Given the description of an element on the screen output the (x, y) to click on. 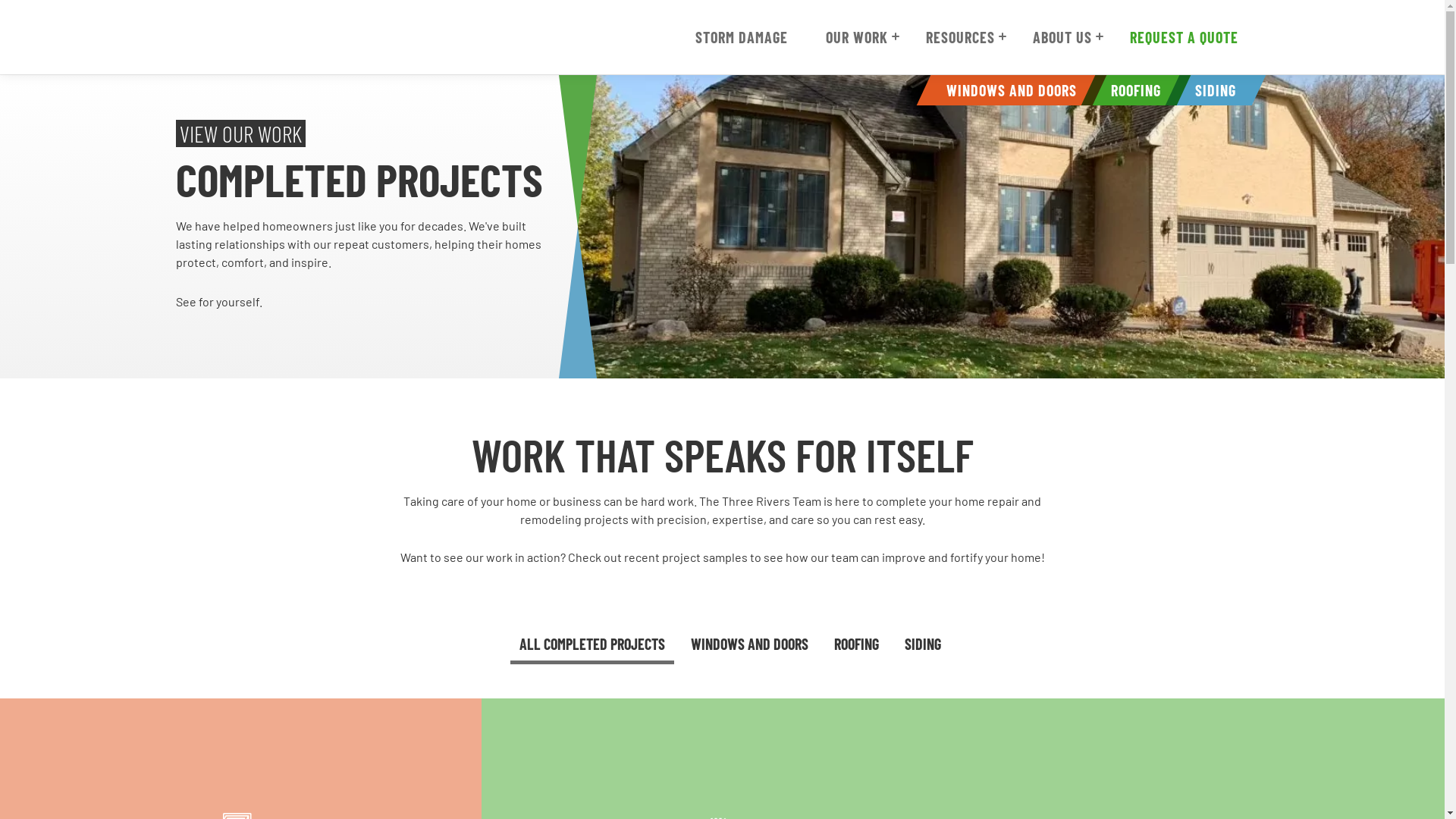
RESOURCES Element type: text (959, 36)
STORM DAMAGE Element type: text (740, 36)
WINDOWS AND DOORS Element type: text (1004, 90)
OUR WORK Element type: text (855, 36)
ROOFING Element type: text (1128, 90)
SIDING Element type: text (1208, 90)
ABOUT US Element type: text (1062, 36)
REQUEST A QUOTE Element type: text (1183, 36)
